Given the description of an element on the screen output the (x, y) to click on. 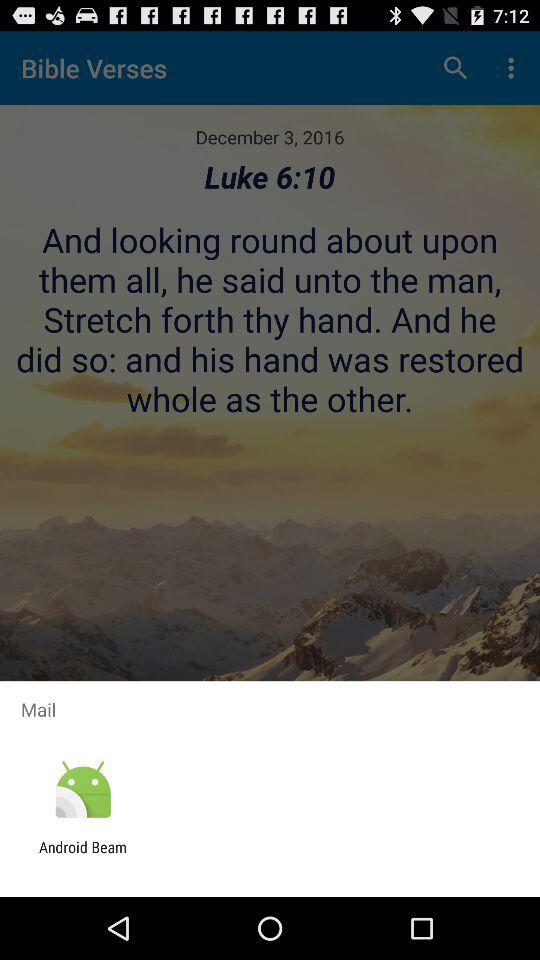
jump until the android beam item (83, 856)
